Given the description of an element on the screen output the (x, y) to click on. 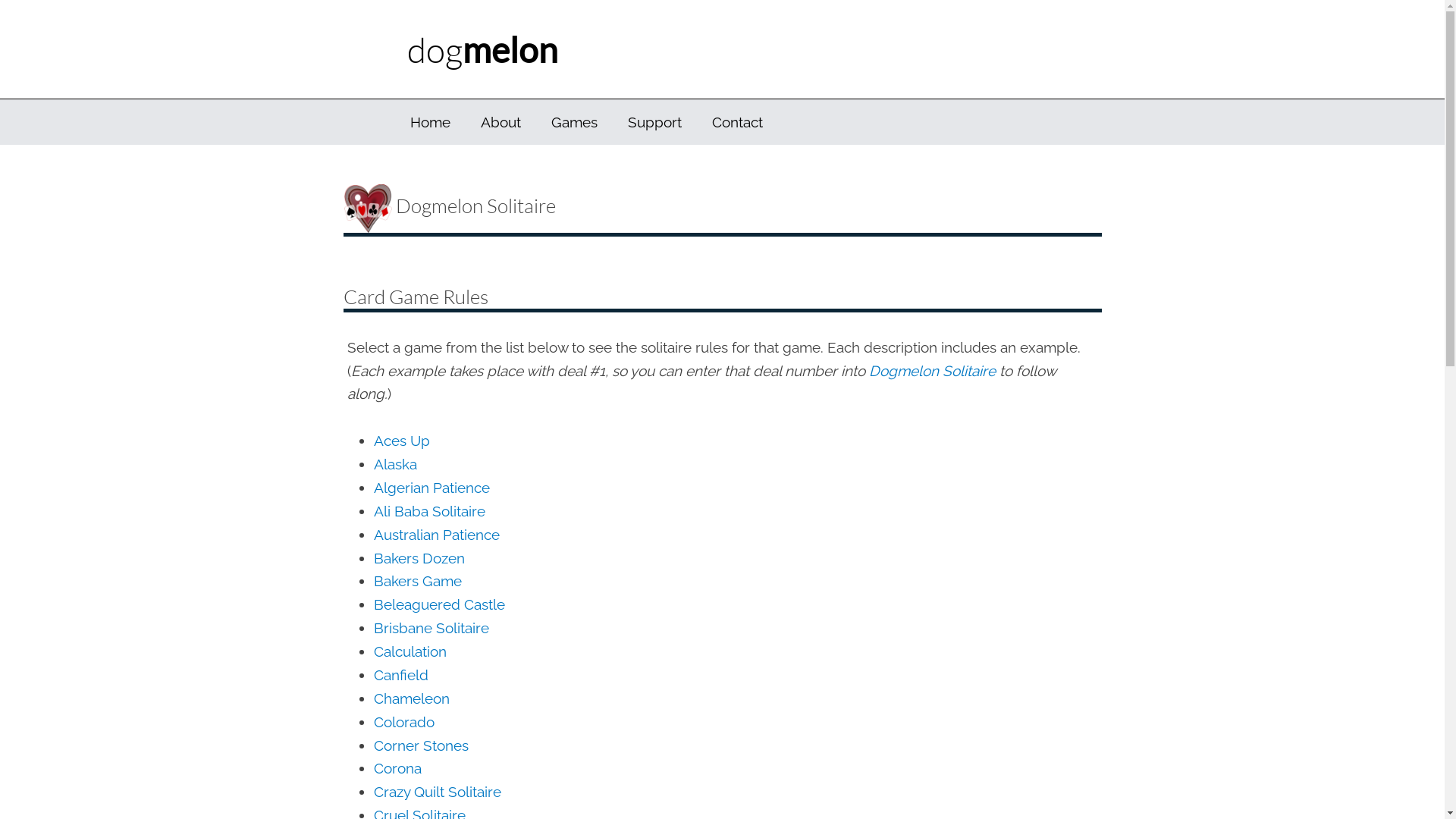
Corona Element type: text (396, 767)
Aces Up Element type: text (401, 440)
Alaska Element type: text (394, 463)
Canfield Element type: text (400, 674)
Ali Baba Solitaire Element type: text (428, 510)
Beleaguered Castle Element type: text (438, 604)
Home Element type: text (429, 121)
Games Element type: text (573, 121)
Crazy Quilt Solitaire Element type: text (436, 791)
Bakers Game Element type: text (417, 580)
Algerian Patience Element type: text (431, 487)
Brisbane Solitaire Element type: text (430, 627)
About Element type: text (500, 121)
Dogmelon Solitaire Element type: text (932, 370)
Contact Element type: text (736, 121)
Chameleon Element type: text (410, 698)
Calculation Element type: text (409, 651)
Support Element type: text (654, 121)
Colorado Element type: text (403, 721)
Bakers Dozen Element type: text (418, 557)
Australian Patience Element type: text (435, 534)
Corner Stones Element type: text (420, 745)
